Given the description of an element on the screen output the (x, y) to click on. 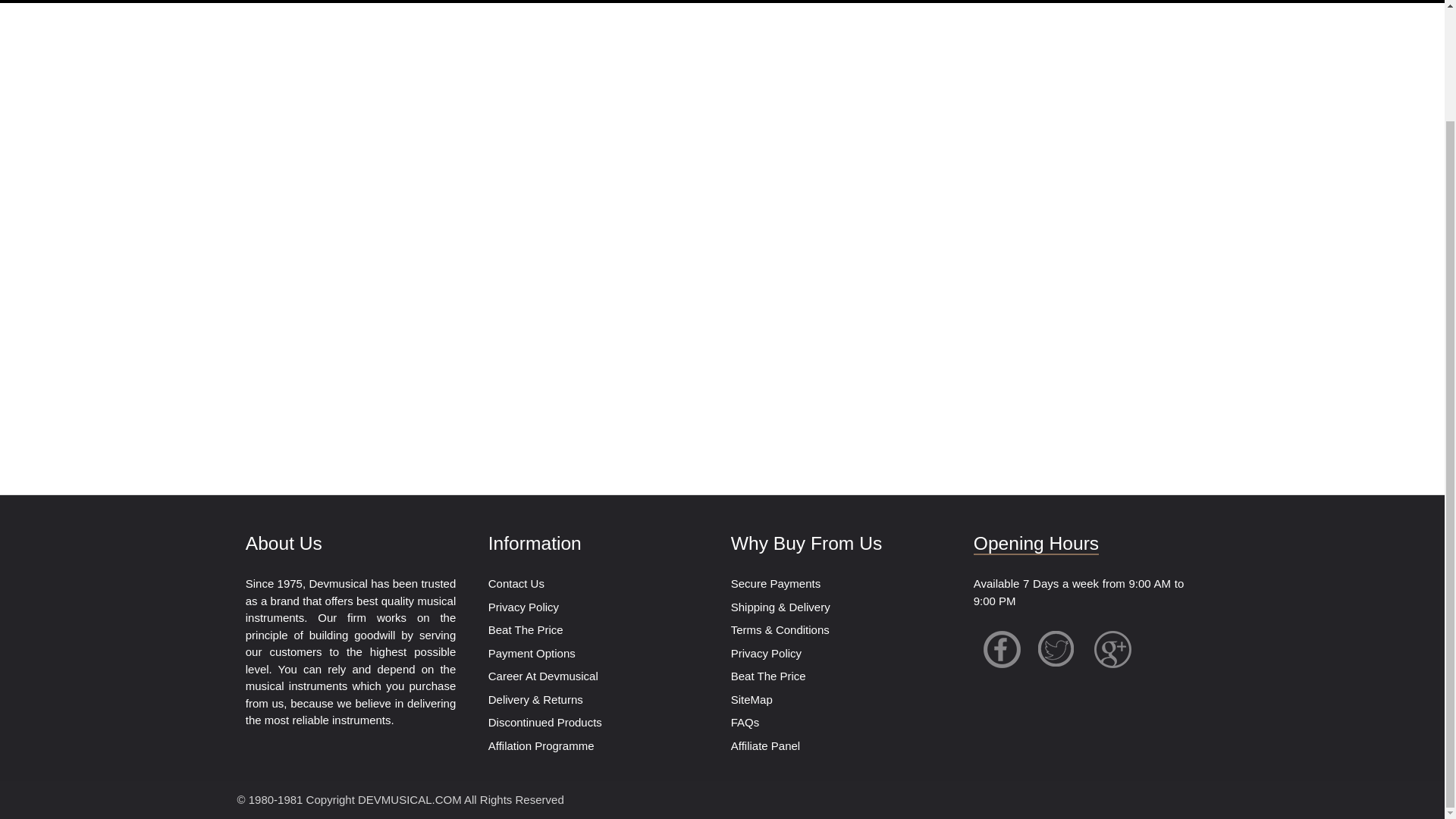
Affilation Programme (540, 745)
Beat The Price (563, 2)
Contact Us (279, 2)
Payment Options (531, 653)
Discontinued Products (544, 721)
Payment (190, 2)
Career (793, 2)
Contact Us (515, 583)
Home (41, 2)
Feedback (464, 2)
Beat The Price (525, 629)
Career At Devmusical (542, 675)
Sell On Devmusical (688, 2)
Brands (112, 2)
Privacy Policy (523, 606)
